Given the description of an element on the screen output the (x, y) to click on. 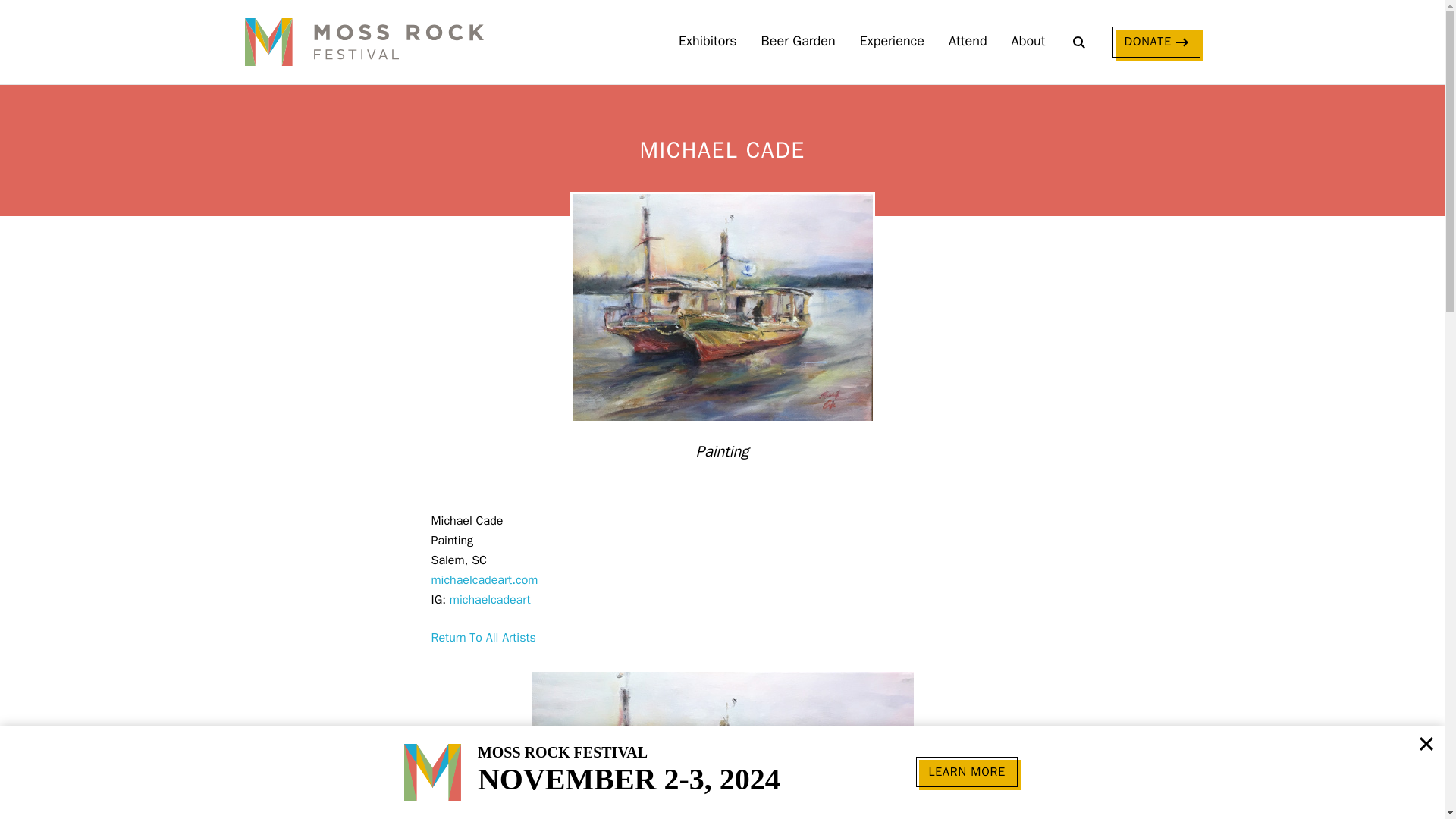
About (1028, 42)
michaelcadeart.com (483, 580)
Beer Garden (798, 42)
Experience (892, 42)
Return To All Artists (482, 637)
michaelcadeart (490, 600)
Exhibitors (707, 42)
DONATE (1155, 41)
Attend (968, 42)
